Given the description of an element on the screen output the (x, y) to click on. 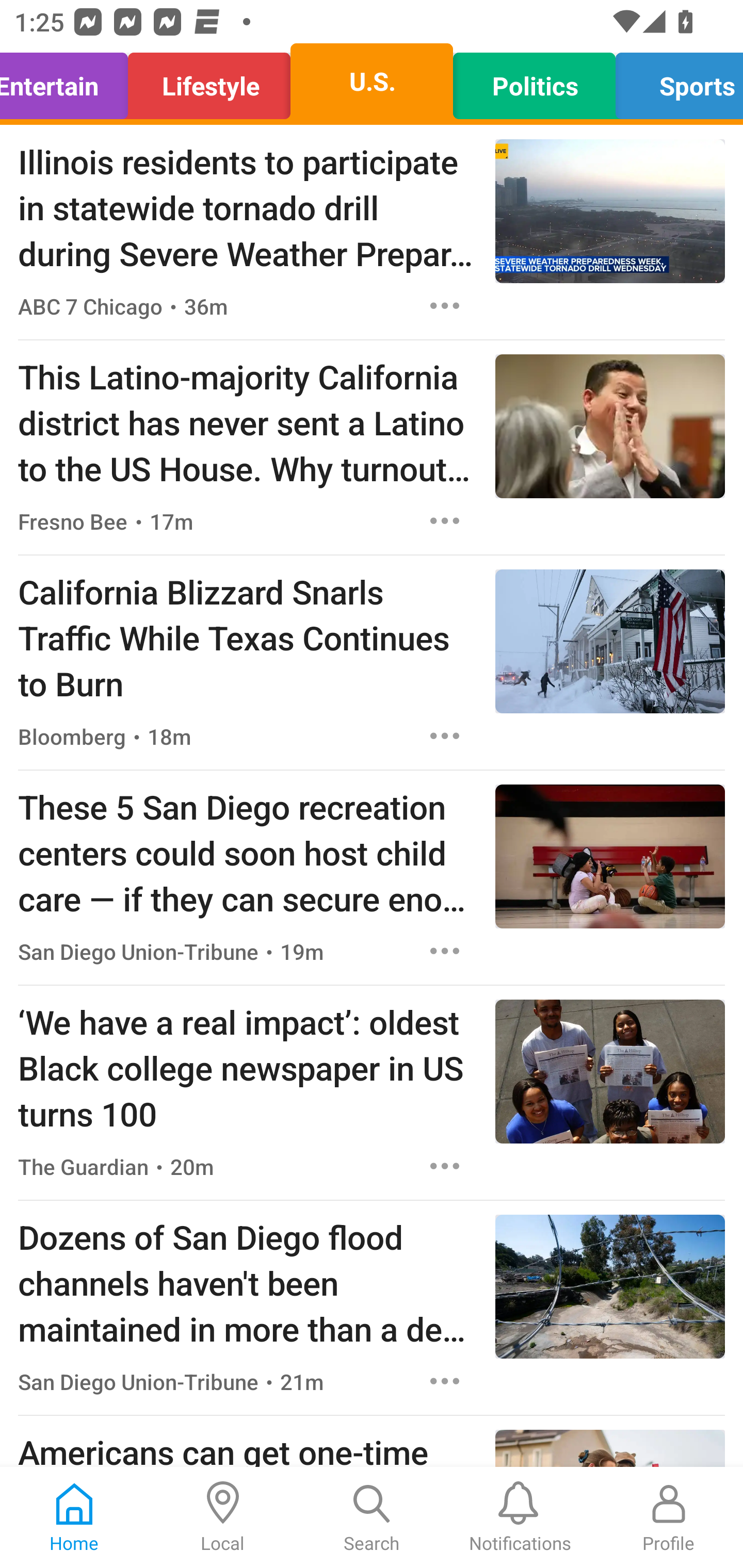
Entertain (69, 81)
Lifestyle (209, 81)
U.S. (371, 81)
Politics (534, 81)
Sports (673, 81)
Options (444, 305)
Options (444, 520)
Options (444, 736)
Options (444, 950)
Options (444, 1166)
Options (444, 1381)
Local (222, 1517)
Search (371, 1517)
Notifications (519, 1517)
Profile (668, 1517)
